Given the description of an element on the screen output the (x, y) to click on. 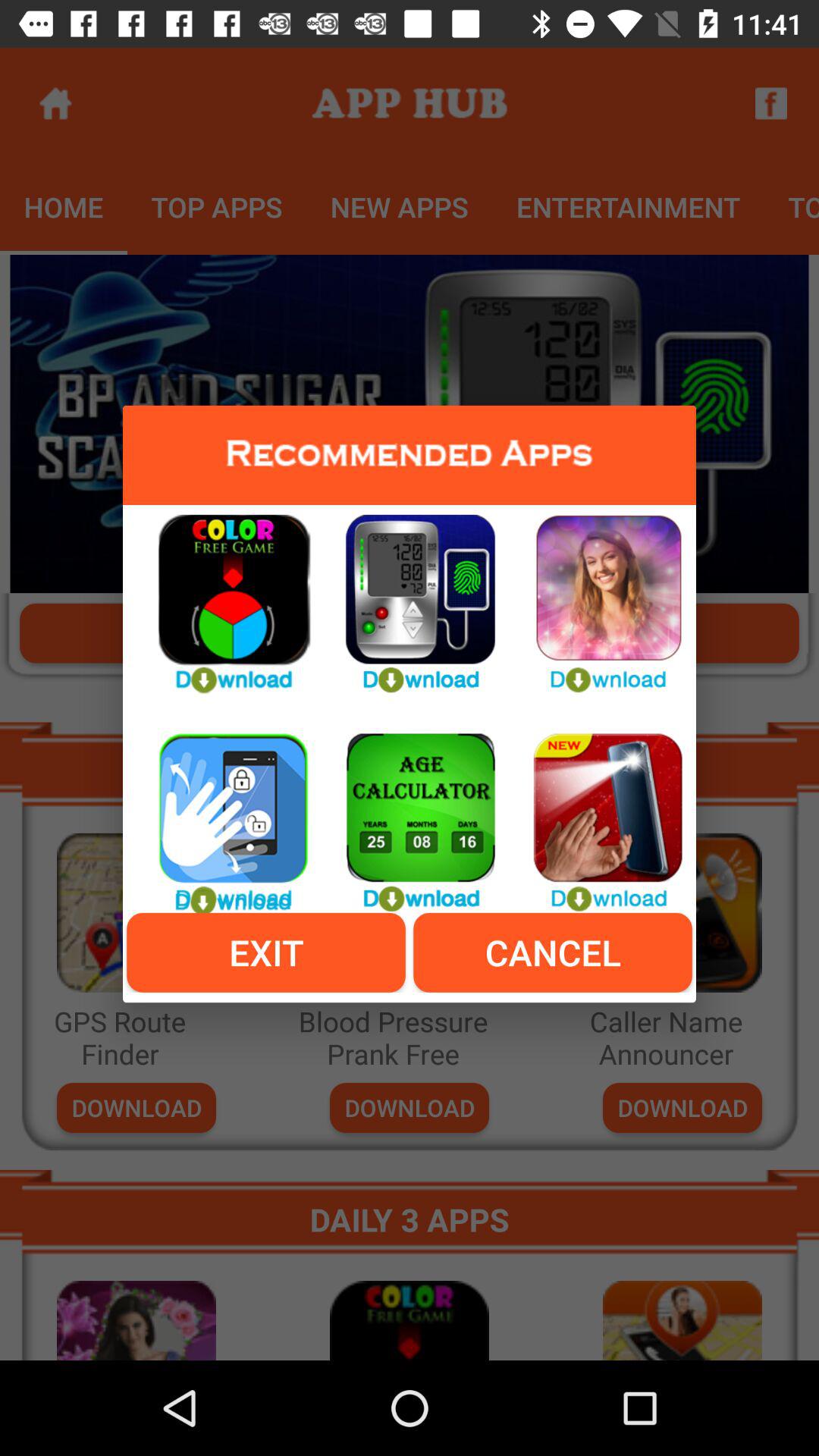
click to download (596, 594)
